Given the description of an element on the screen output the (x, y) to click on. 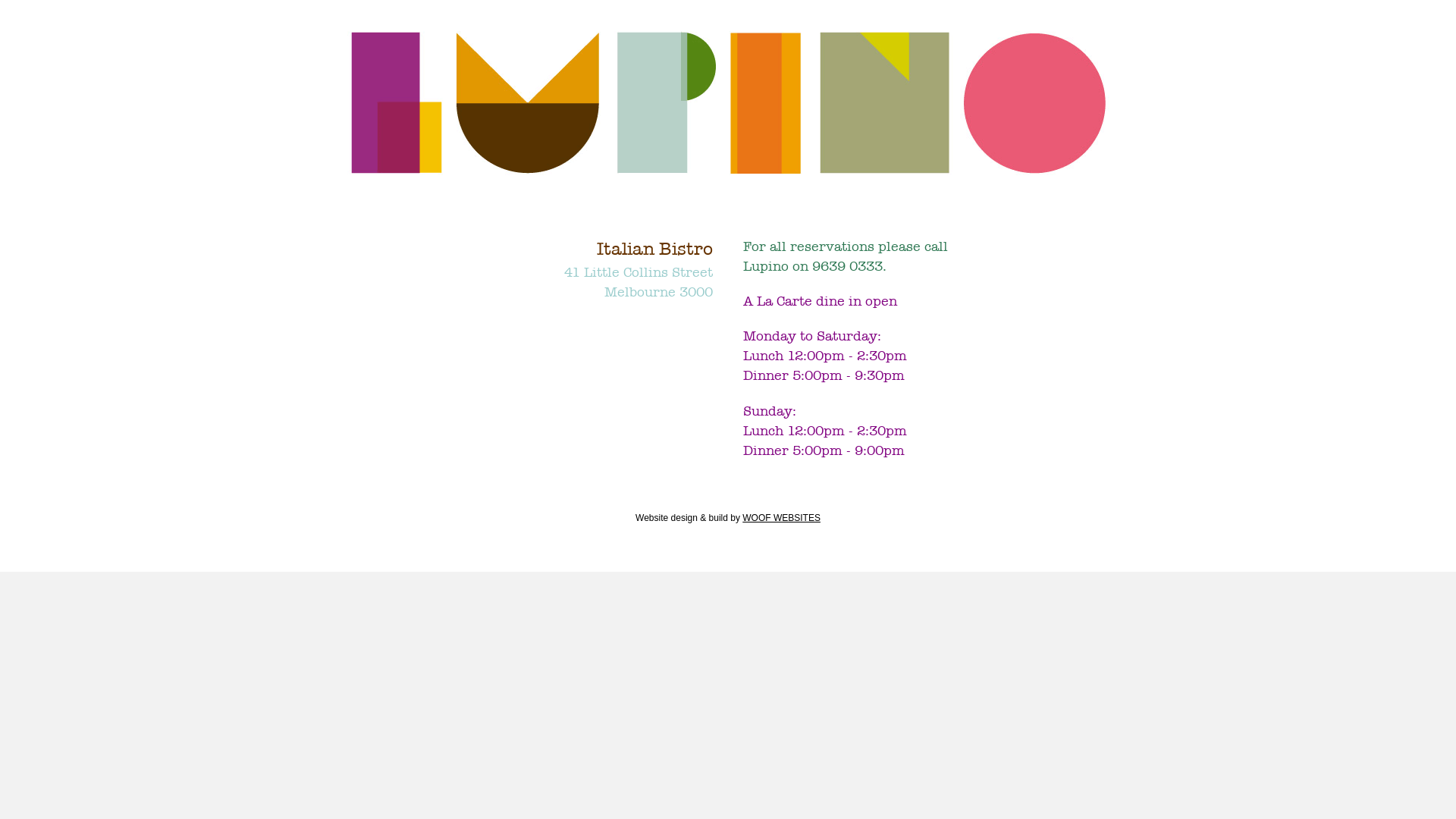
WOOF WEBSITES Element type: text (781, 517)
Lupino Logo Element type: hover (728, 102)
